Given the description of an element on the screen output the (x, y) to click on. 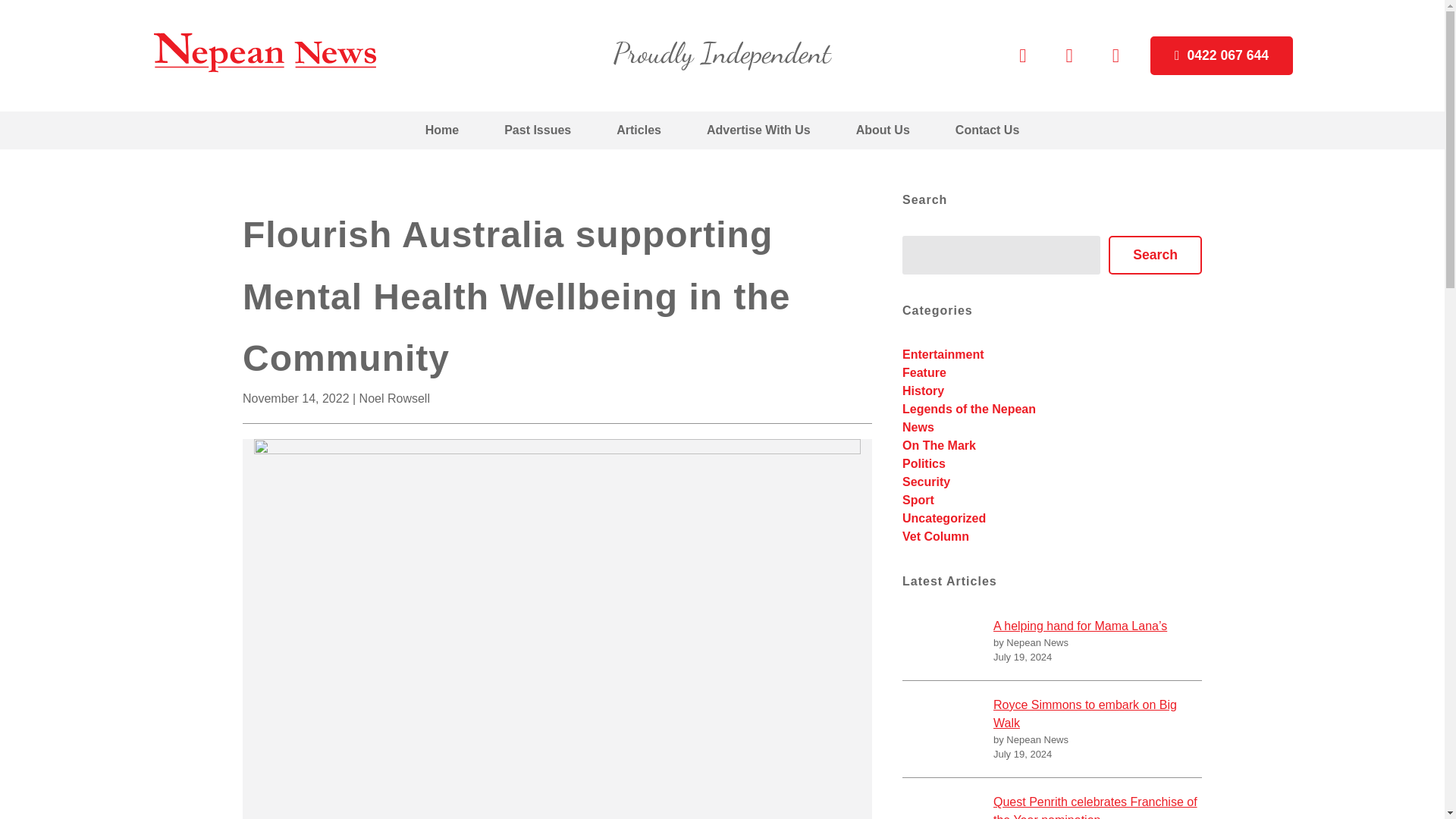
Sport (918, 499)
Politics (923, 463)
Contact Us (986, 130)
Entertainment (943, 354)
Royce Simmons to embark on Big Walk (1097, 714)
History (922, 390)
About Us (882, 130)
Legends of the Nepean (968, 408)
News (918, 427)
Quest Penrith celebrates Franchise of the Year nomination (1097, 806)
Advertise With Us (758, 130)
Uncategorized (943, 517)
Articles (639, 130)
Search (1155, 255)
Security (926, 481)
